Given the description of an element on the screen output the (x, y) to click on. 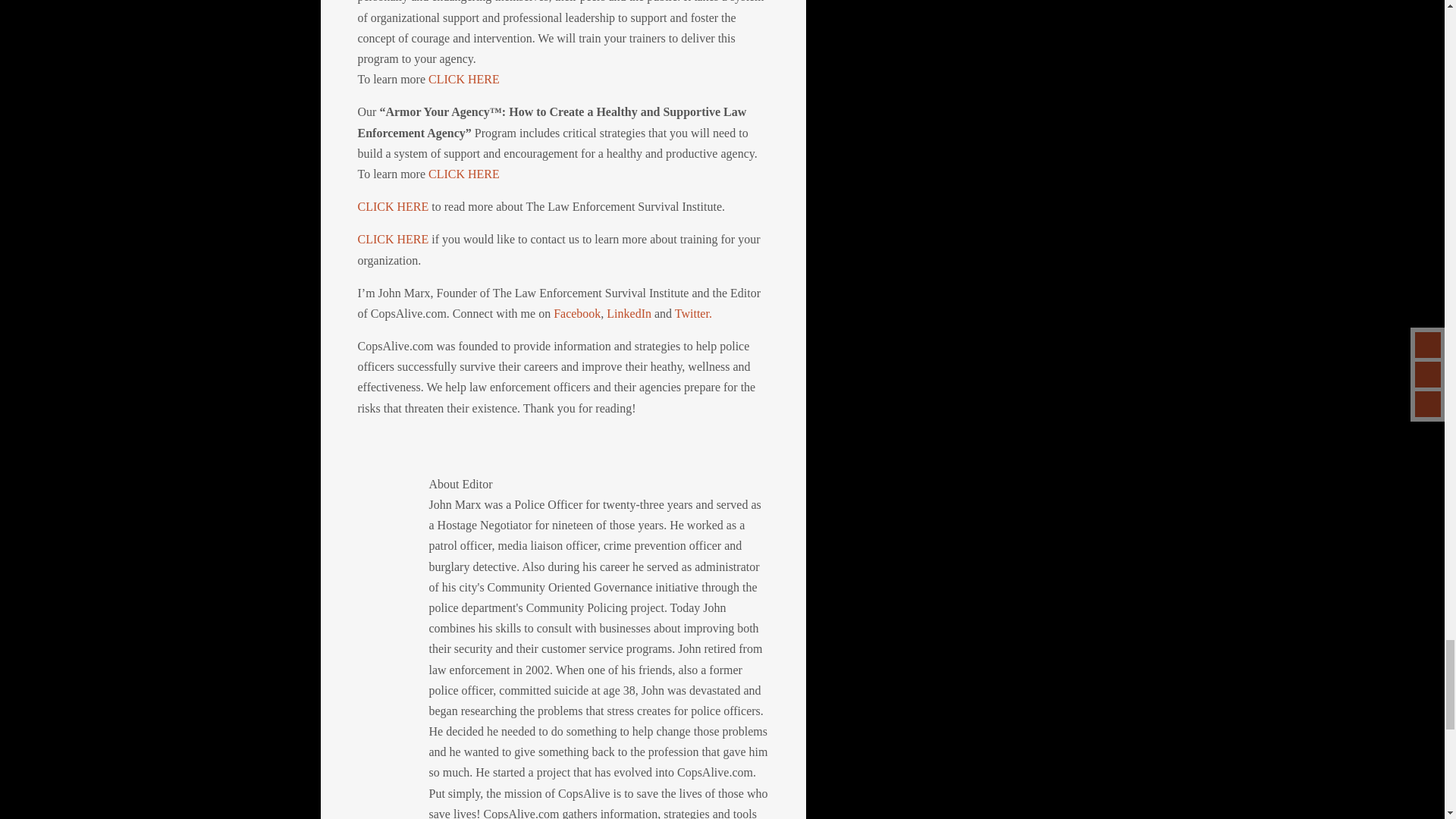
Facebook (576, 313)
CLICK HERE (462, 173)
LinkedIn (630, 313)
CLICK HERE (393, 205)
Twitter. (693, 313)
CLICK HERE (463, 78)
CLICK HERE (393, 238)
